Given the description of an element on the screen output the (x, y) to click on. 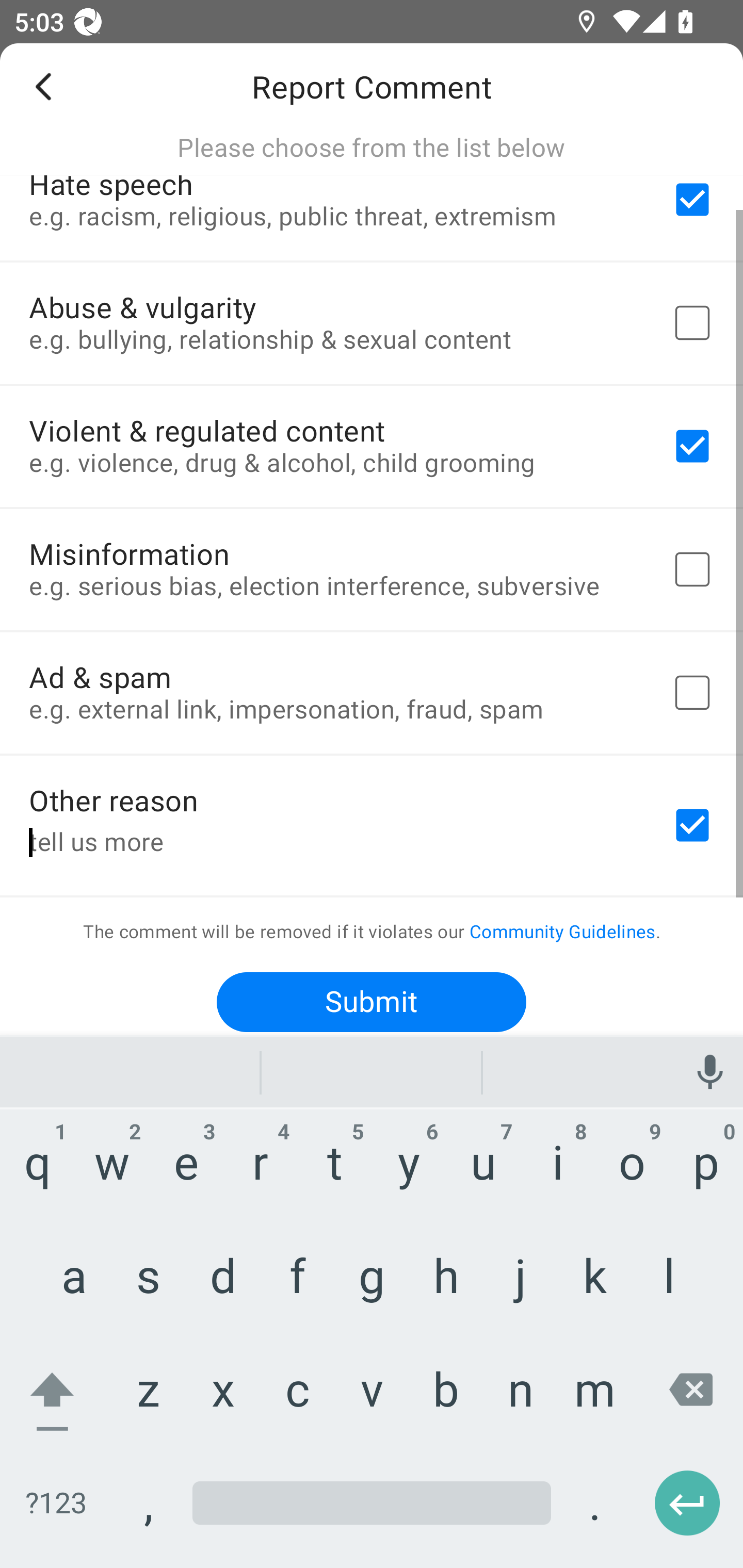
Other reason tell us more (371, 825)
tell us more (334, 842)
Submit (371, 1001)
